Given the description of an element on the screen output the (x, y) to click on. 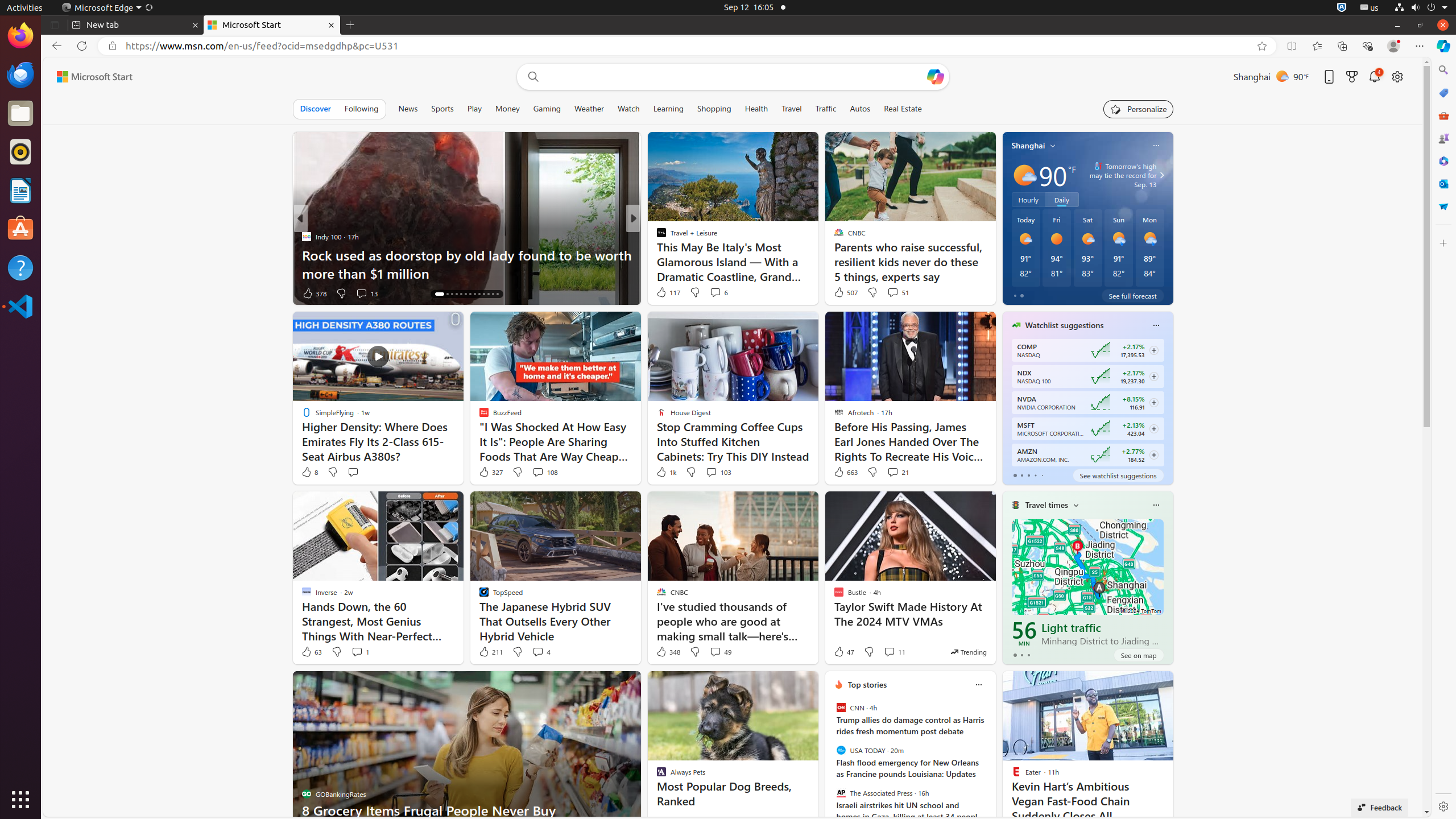
Profile 1 Profile, Please sign in Element type: push-button (1392, 46)
47 Like Element type: toggle-button (843, 651)
Weather forecast Today High temperature 91° Low temperature 82° Weather forecast Fri High temperature 94° Low temperature 81° Weather forecast Sat High temperature 93° Low temperature 83° Weather forecast Sun High temperature 91° Low temperature 82° Weather forecast Mon High temperature 89° Low temperature 84° Element type: link (1087, 247)
Microsoft 365 Element type: push-button (1443, 160)
Traffic Element type: link (825, 108)
